Given the description of an element on the screen output the (x, y) to click on. 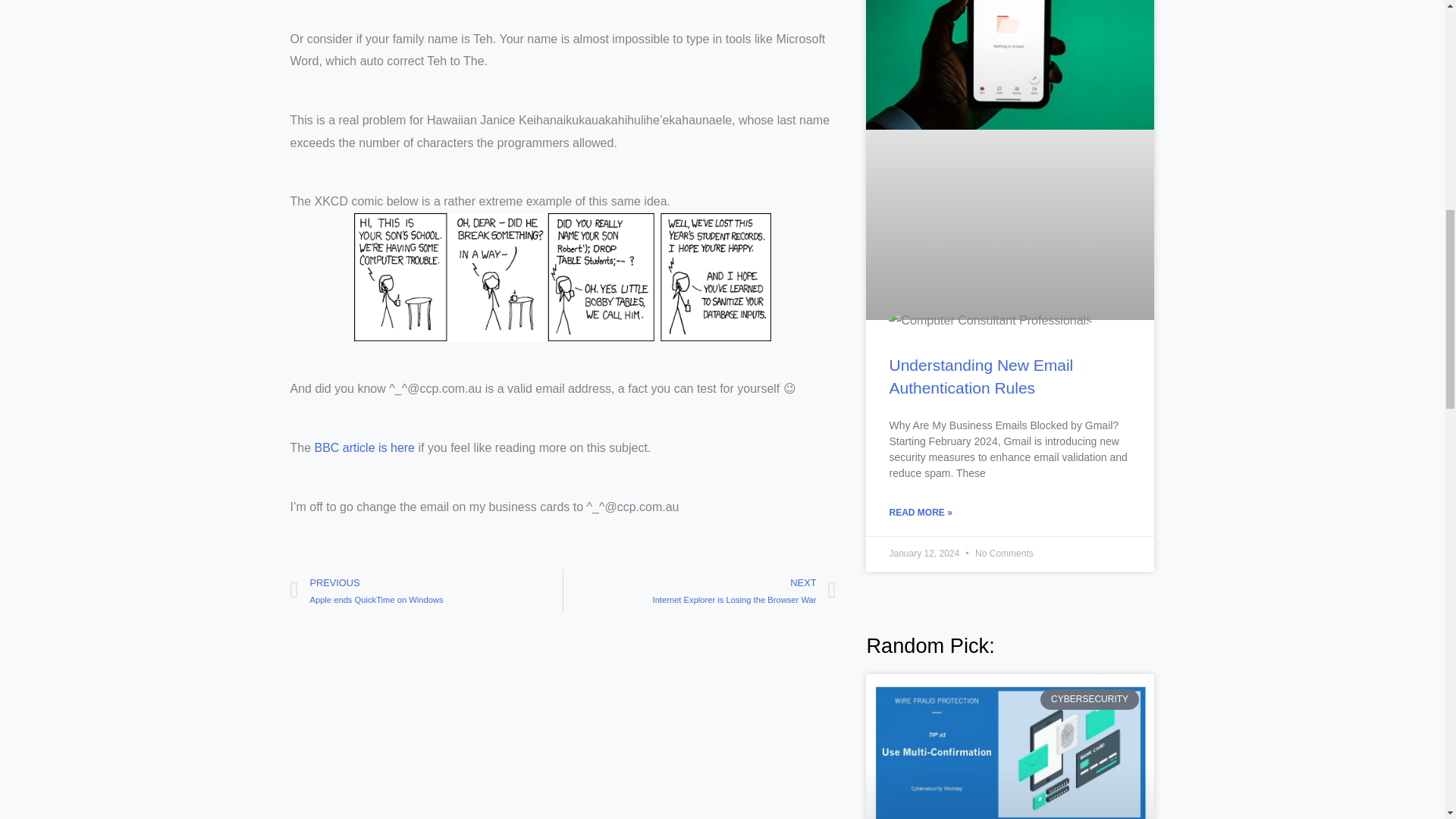
BBC article is here (364, 447)
Understanding New Email Authentication Rules (980, 375)
